Given the description of an element on the screen output the (x, y) to click on. 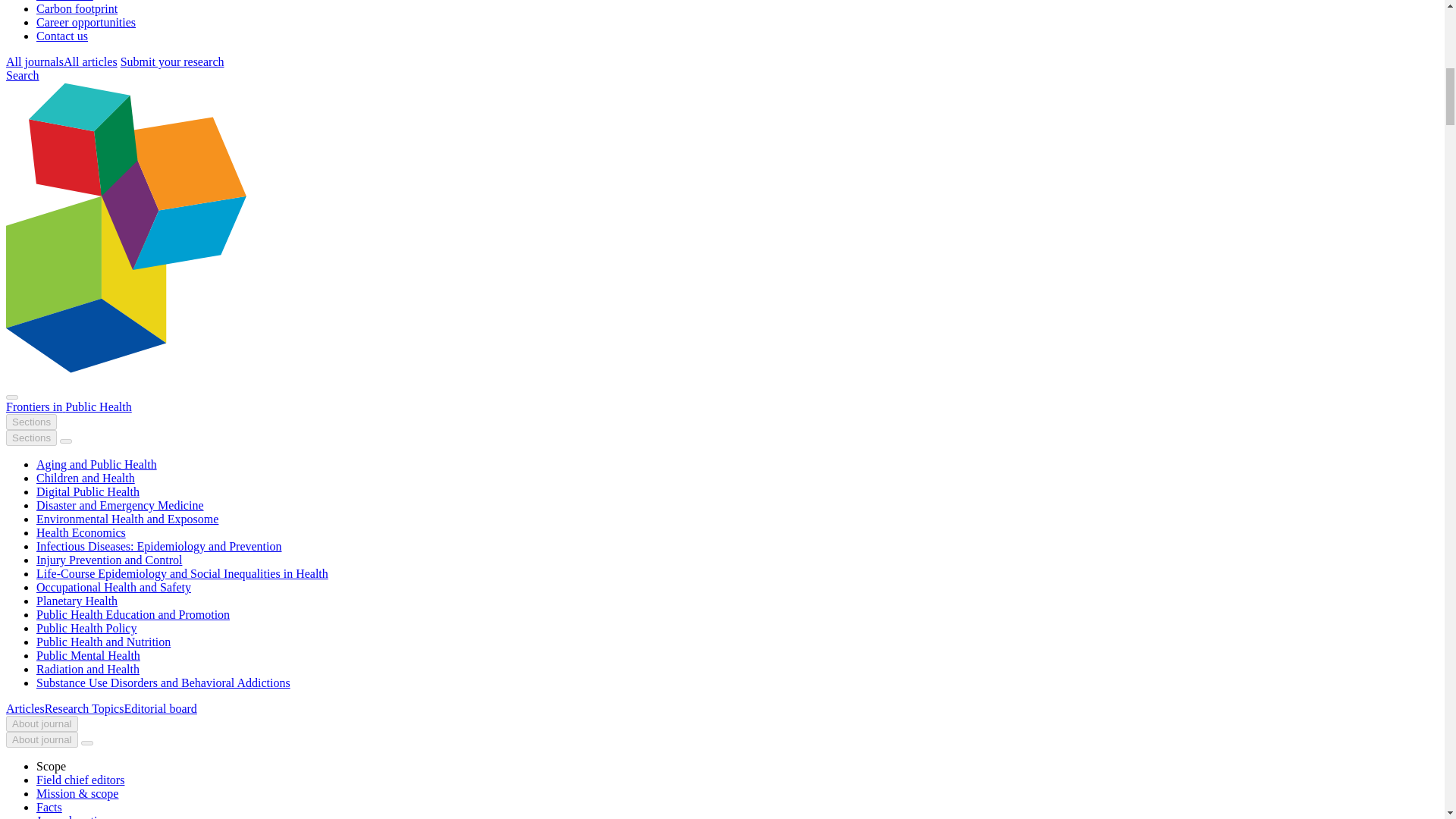
All journals (34, 61)
Press office (64, 0)
Submit your research (172, 61)
Search (22, 74)
All articles (90, 61)
Contact us (61, 35)
Carbon footprint (76, 8)
Sections (30, 437)
Career opportunities (85, 21)
Sections (30, 421)
